Given the description of an element on the screen output the (x, y) to click on. 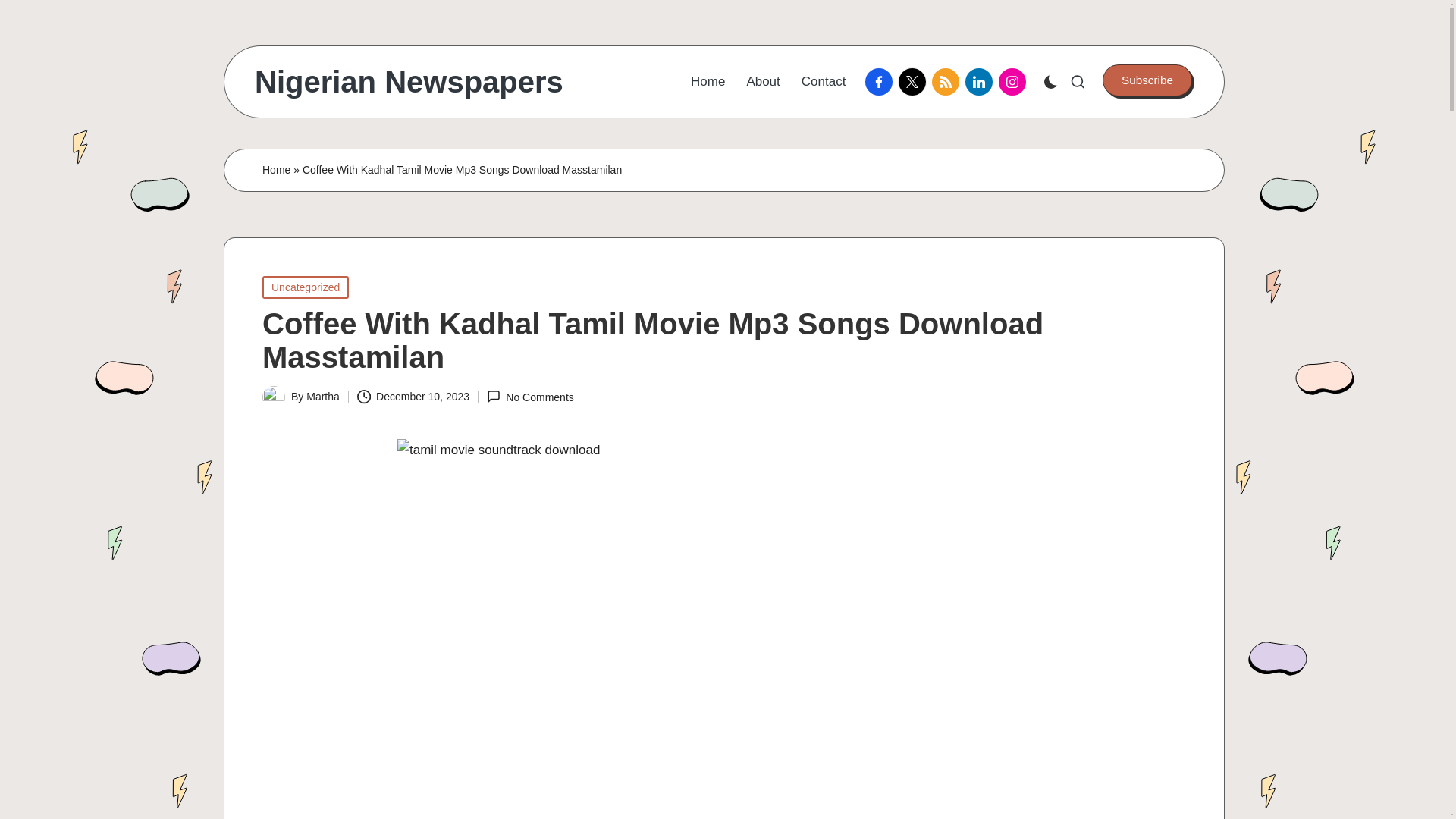
Contact (823, 81)
Subscribe (1147, 80)
No Comments (529, 396)
facebook.com (881, 81)
rss.com (948, 81)
Home (275, 169)
linkedin.com (981, 81)
twitter.com (914, 81)
View all posts by Martha (322, 396)
Home (707, 81)
